Given the description of an element on the screen output the (x, y) to click on. 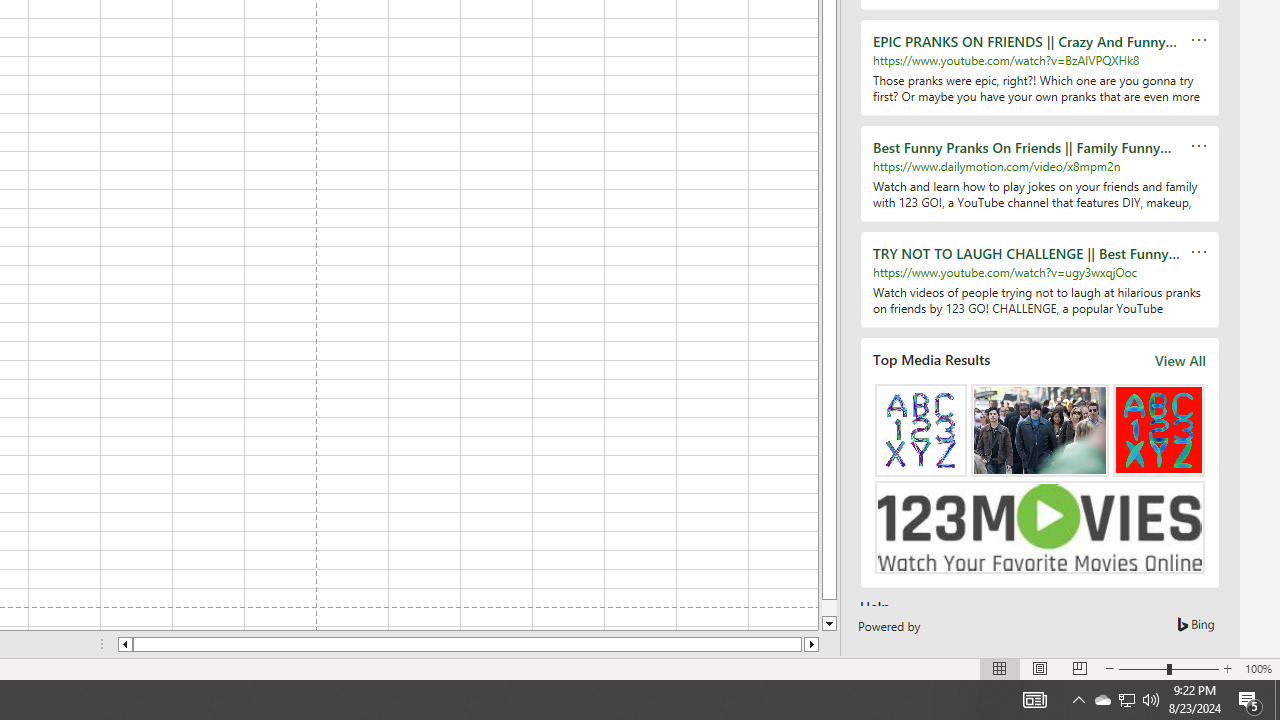
Page down (829, 607)
